Given the description of an element on the screen output the (x, y) to click on. 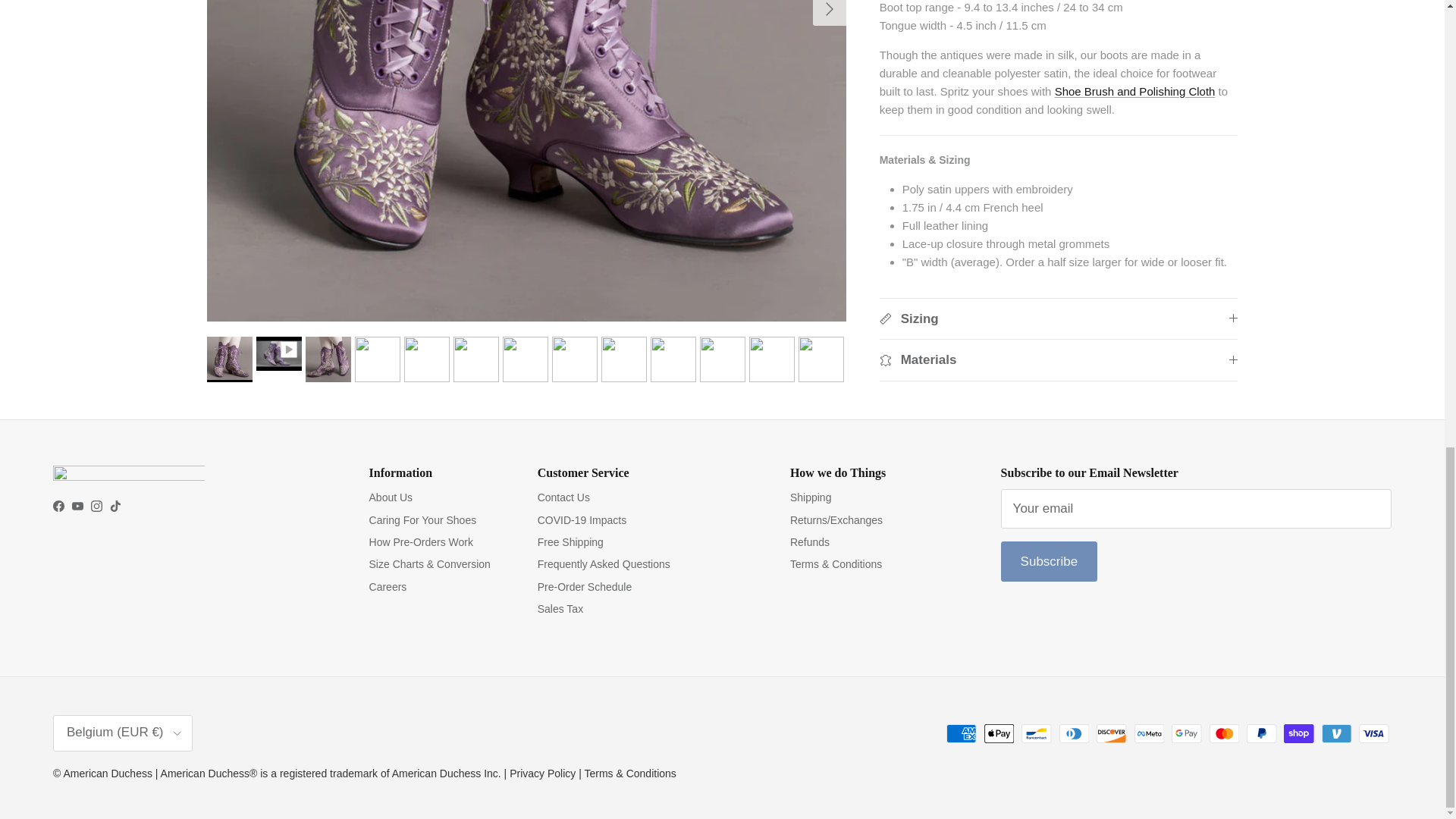
Shoe Brush and Polishing Cloth (1134, 52)
American Duchess - Europe on Instagram (95, 505)
American Duchess - Europe on YouTube (76, 505)
American Duchess - Europe on Facebook (58, 505)
American Duchess - Europe on TikTok (115, 505)
